Given the description of an element on the screen output the (x, y) to click on. 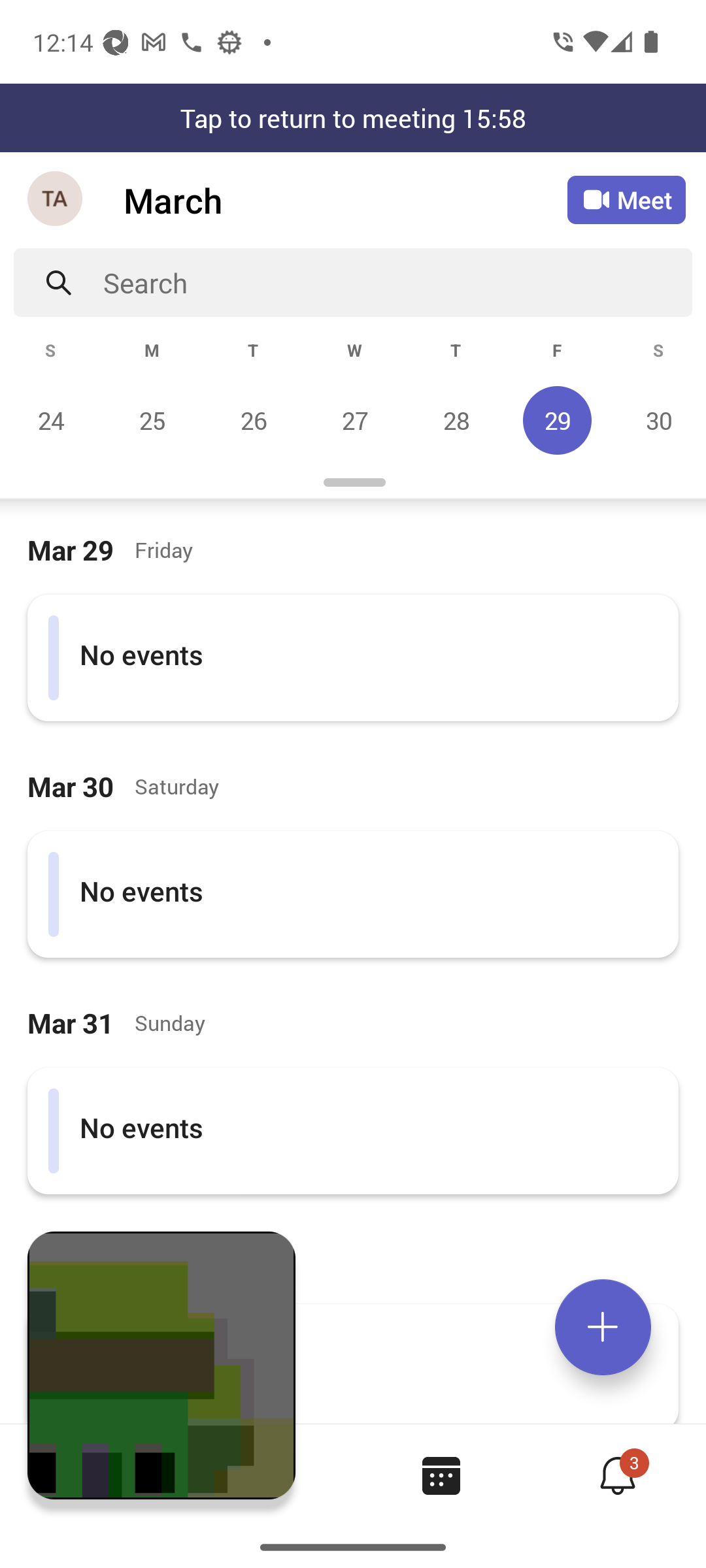
Tap to return to meeting 15:58 (353, 117)
Navigation (56, 199)
Meet Meet now or join with an ID (626, 199)
March March Calendar Agenda View (345, 199)
Search (397, 281)
Sunday, March 24 24 (50, 420)
Monday, March 25 25 (151, 420)
Tuesday, March 26 26 (253, 420)
Wednesday, March 27 27 (354, 420)
Thursday, March 28 28 (455, 420)
Friday, March 29, Selected 29 (556, 420)
Saturday, March 30 30 (656, 420)
Expand meetings menu (602, 1327)
Calendar tab, 3 of 4 (441, 1475)
Activity tab,4 of 4, not selected, 3 new 3 (617, 1475)
